Given the description of an element on the screen output the (x, y) to click on. 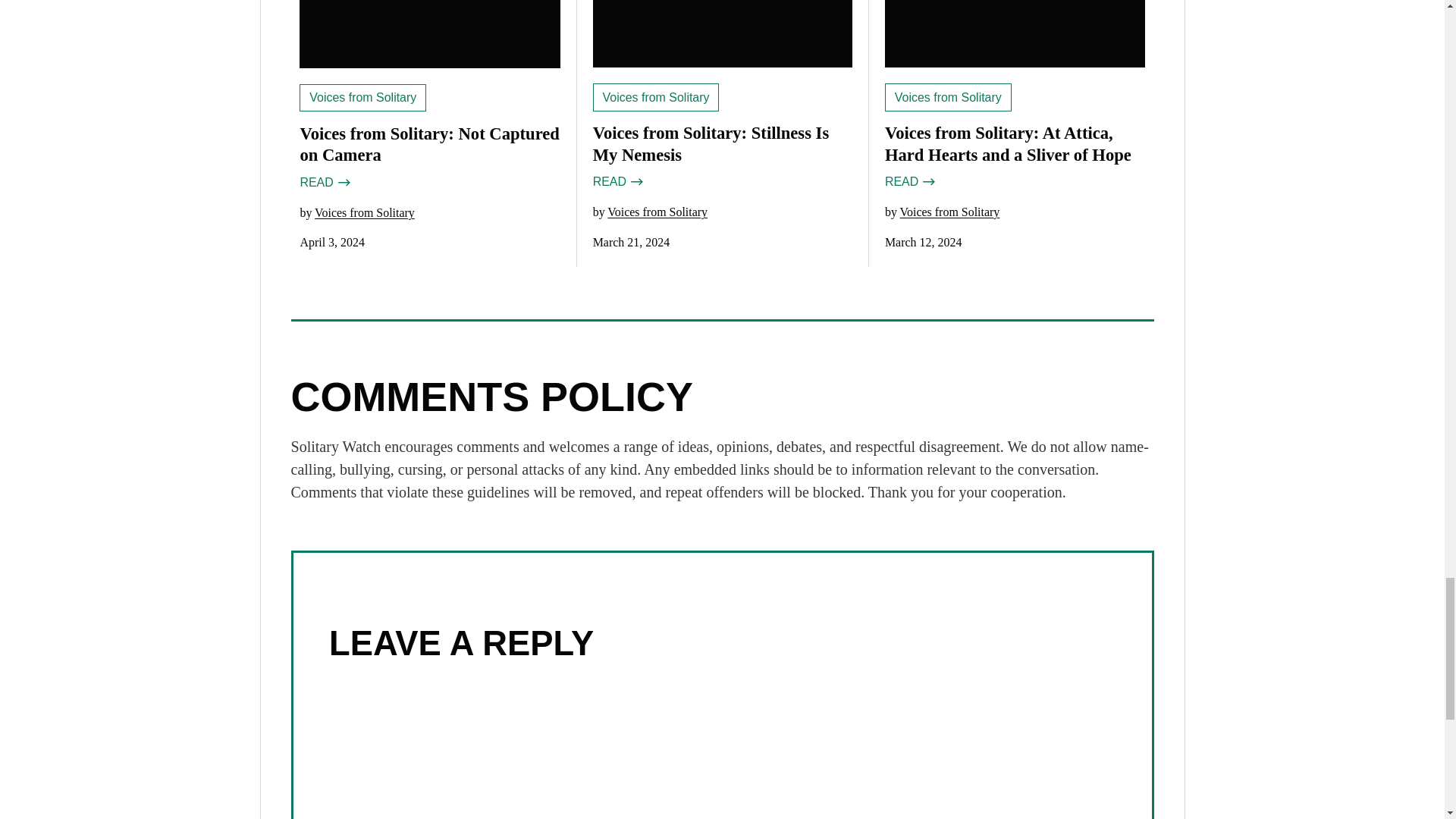
ARROW POINTING RIGHT (928, 181)
ARROW POINTING RIGHT (636, 181)
Comment Form (722, 749)
ARROW POINTING RIGHT (343, 182)
